Given the description of an element on the screen output the (x, y) to click on. 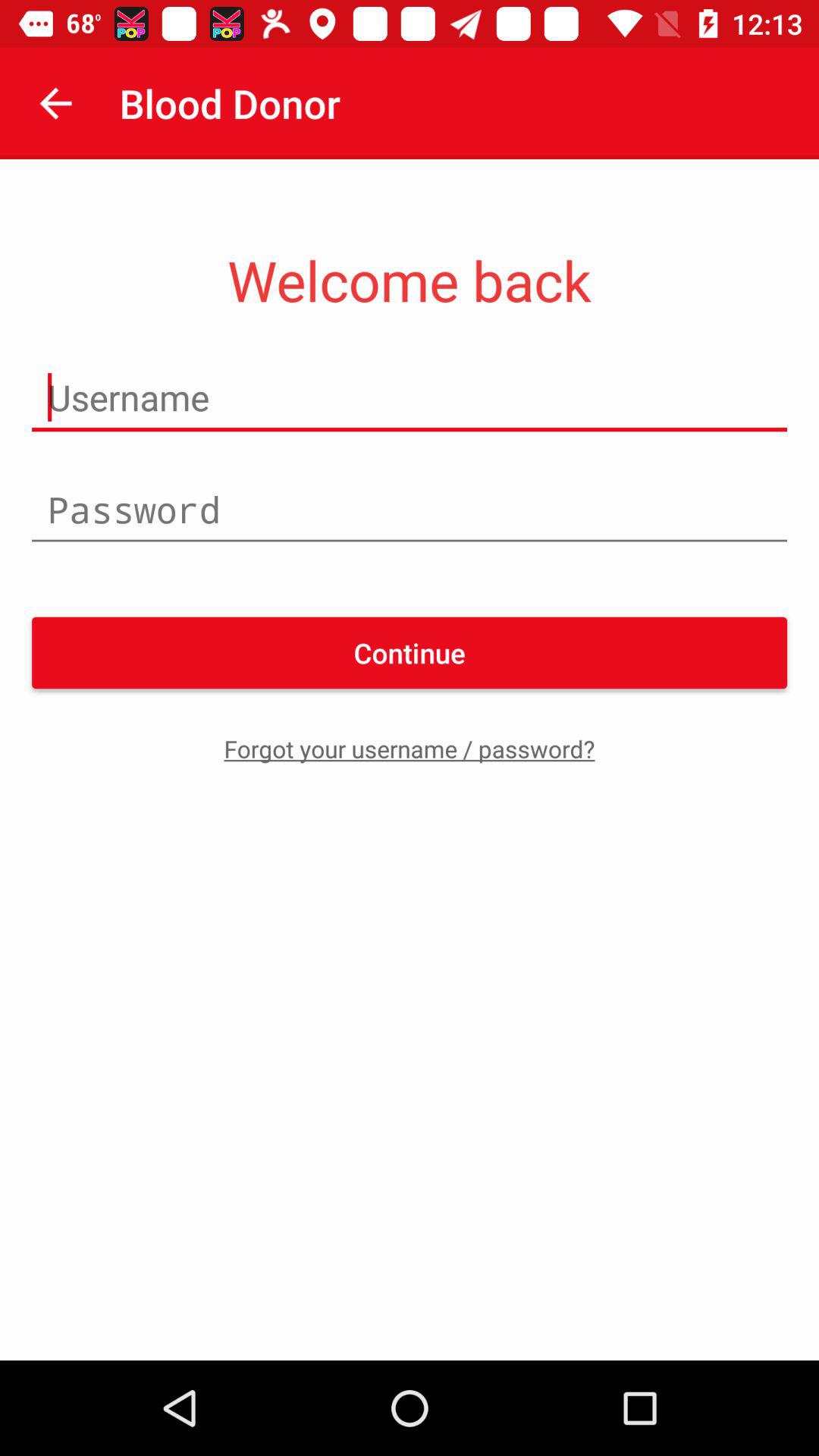
turn off the icon above forgot your username item (409, 652)
